Given the description of an element on the screen output the (x, y) to click on. 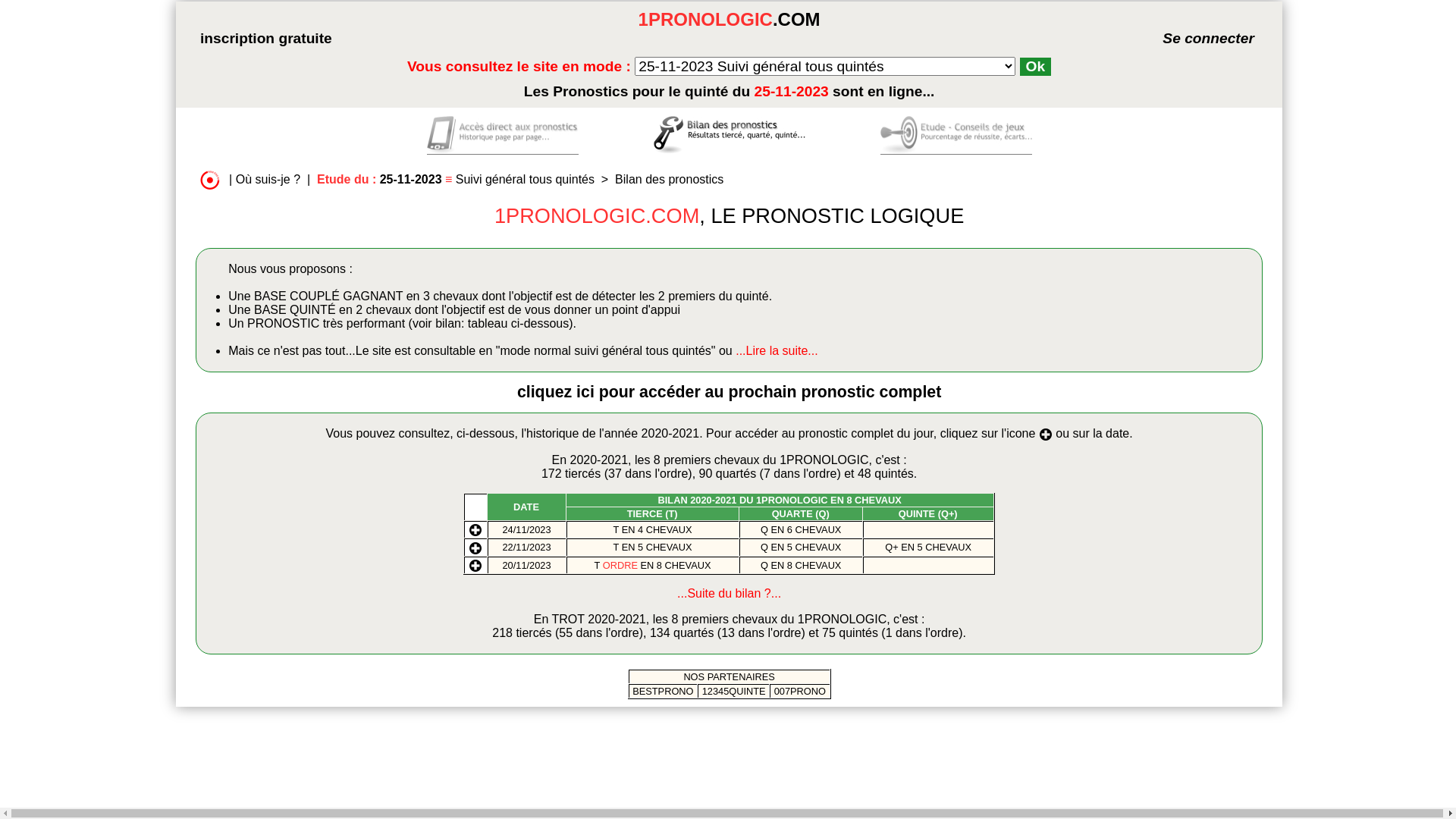
NOS PARTENAIRES Element type: text (728, 676)
 BESTPRONO  Element type: text (663, 690)
voir le pronostic complet du 24-11-2023 Element type: hover (475, 528)
inscription gratuite Element type: text (266, 38)
...Lire la suite... Element type: text (776, 350)
voir le pronostic complet du 22-11-2023 Element type: hover (475, 545)
 007PRONO  Element type: text (799, 690)
 12345QUINTE  Element type: text (733, 690)
 24/11/2023  Element type: text (526, 529)
            Se connecter  Element type: text (1185, 38)
Bilan des pronostics Element type: text (669, 178)
1PRONOLOGIC.COM Element type: text (729, 19)
 20/11/2023  Element type: text (526, 565)
Ok Element type: text (1035, 66)
 22/11/2023  Element type: text (526, 546)
1PRONOLOGIC.COM, LE PRONOSTIC LOGIQUE Element type: text (728, 215)
voir le pronostic complet du 20-11-2023 Element type: hover (475, 564)
